Given the description of an element on the screen output the (x, y) to click on. 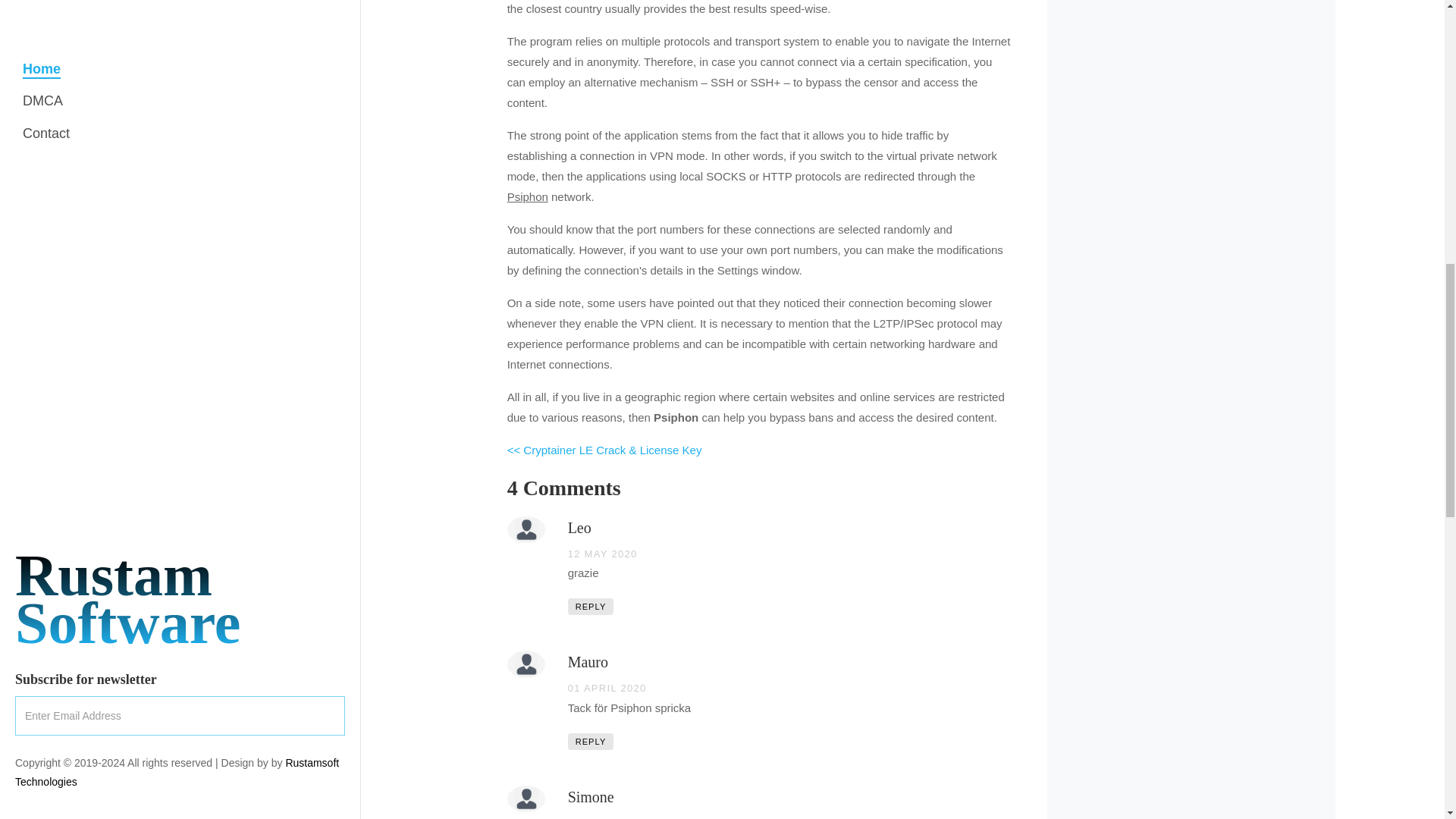
REPLY (590, 606)
REPLY (590, 741)
